Given the description of an element on the screen output the (x, y) to click on. 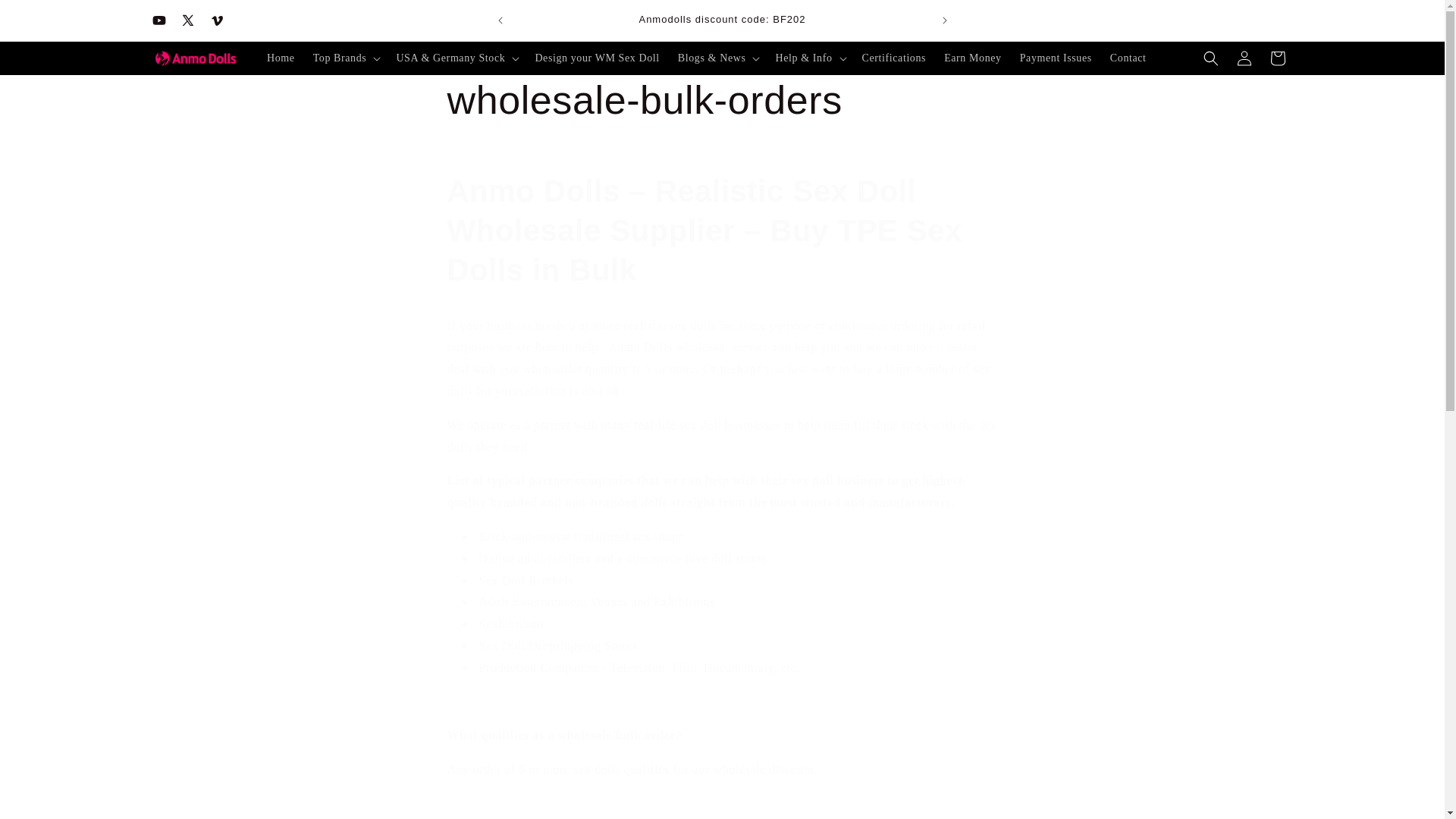
YouTube (158, 20)
Skip to content (45, 17)
Vimeo (216, 20)
wholesale-bulk-orders (721, 100)
